Given the description of an element on the screen output the (x, y) to click on. 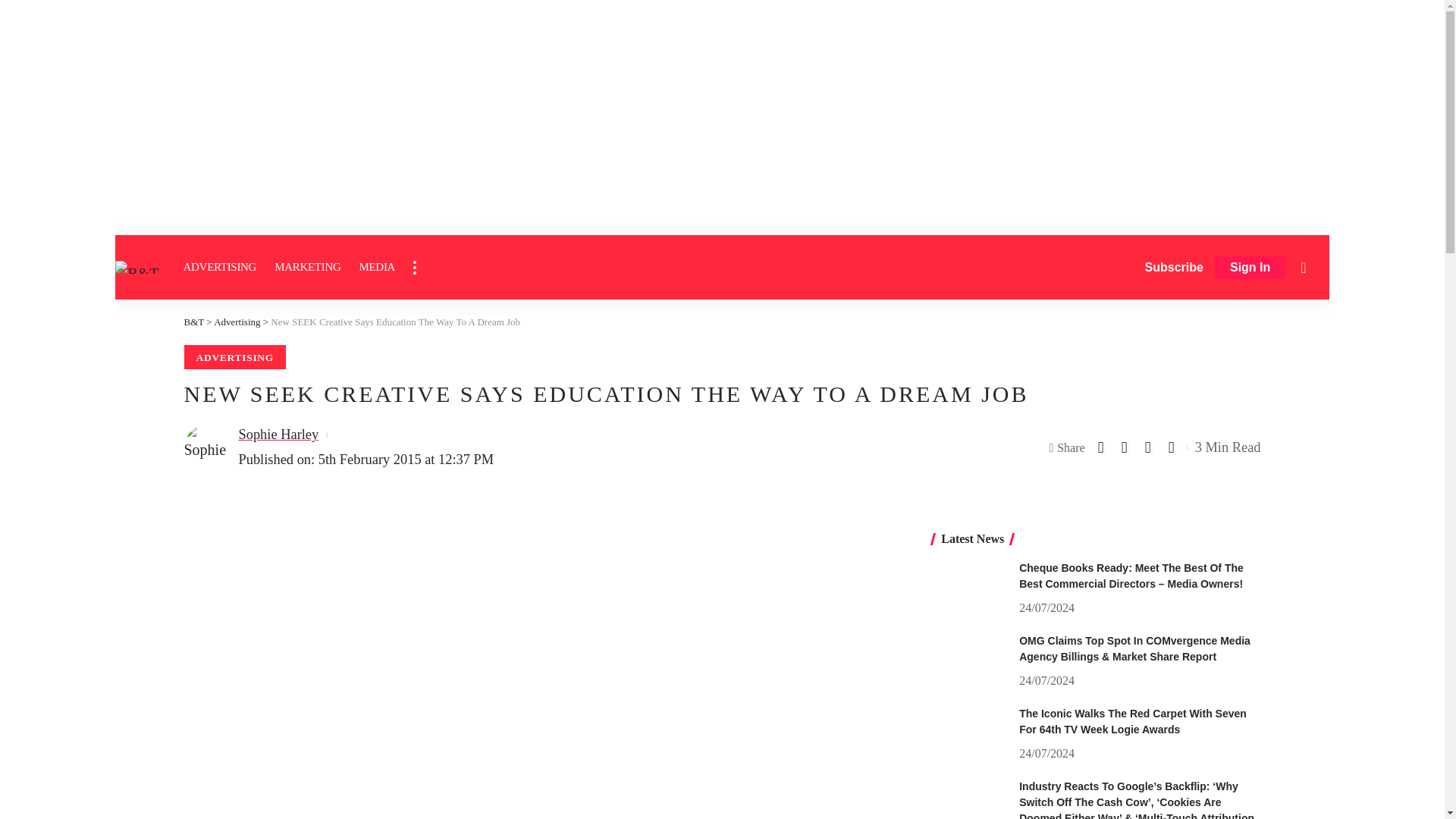
Sign In (1249, 267)
MARKETING (306, 267)
MEDIA (376, 267)
Go to the Advertising Category archives. (237, 321)
Subscribe (1174, 267)
ADVERTISING (220, 267)
